Given the description of an element on the screen output the (x, y) to click on. 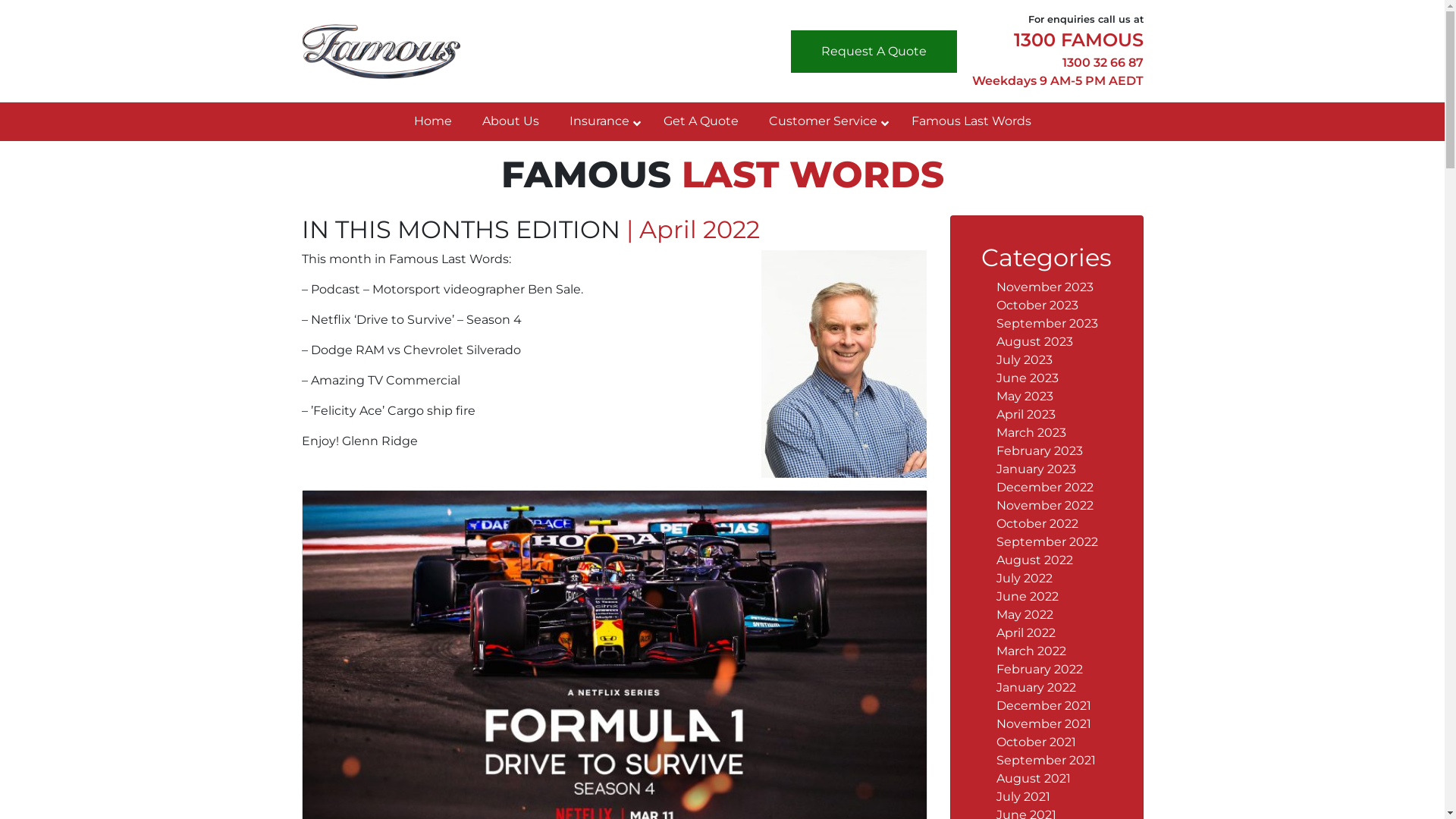
August 2021 Element type: text (1033, 778)
January 2023 Element type: text (1036, 468)
June 2023 Element type: text (1027, 377)
October 2023 Element type: text (1037, 305)
Customer Service Element type: text (824, 121)
February 2023 Element type: text (1039, 450)
October 2022 Element type: text (1037, 523)
September 2022 Element type: text (1047, 541)
1300 32 66 87 Element type: text (1101, 62)
August 2023 Element type: text (1034, 341)
March 2023 Element type: text (1031, 432)
November 2022 Element type: text (1044, 505)
June 2022 Element type: text (1027, 596)
September 2023 Element type: text (1047, 323)
Insurance Element type: text (600, 121)
July 2023 Element type: text (1024, 359)
October 2021 Element type: text (1036, 741)
Get A Quote Element type: text (700, 121)
Weekdays 9 AM-5 PM AEDT Element type: text (1057, 80)
November 2021 Element type: text (1043, 723)
July 2021 Element type: text (1023, 796)
August 2022 Element type: text (1034, 559)
About Us Element type: text (510, 121)
April 2022 Element type: text (1025, 632)
May 2022 Element type: text (1024, 614)
March 2022 Element type: text (1031, 650)
Request A Quote Element type: text (873, 51)
February 2022 Element type: text (1039, 669)
Famous Last Words Element type: text (971, 121)
January 2022 Element type: text (1036, 687)
November 2023 Element type: text (1044, 286)
July 2022 Element type: text (1024, 578)
December 2021 Element type: text (1043, 705)
1300 FAMOUS Element type: text (1077, 39)
Home Element type: text (432, 121)
December 2022 Element type: text (1044, 487)
September 2021 Element type: text (1045, 760)
May 2023 Element type: text (1024, 396)
April 2023 Element type: text (1025, 414)
